Given the description of an element on the screen output the (x, y) to click on. 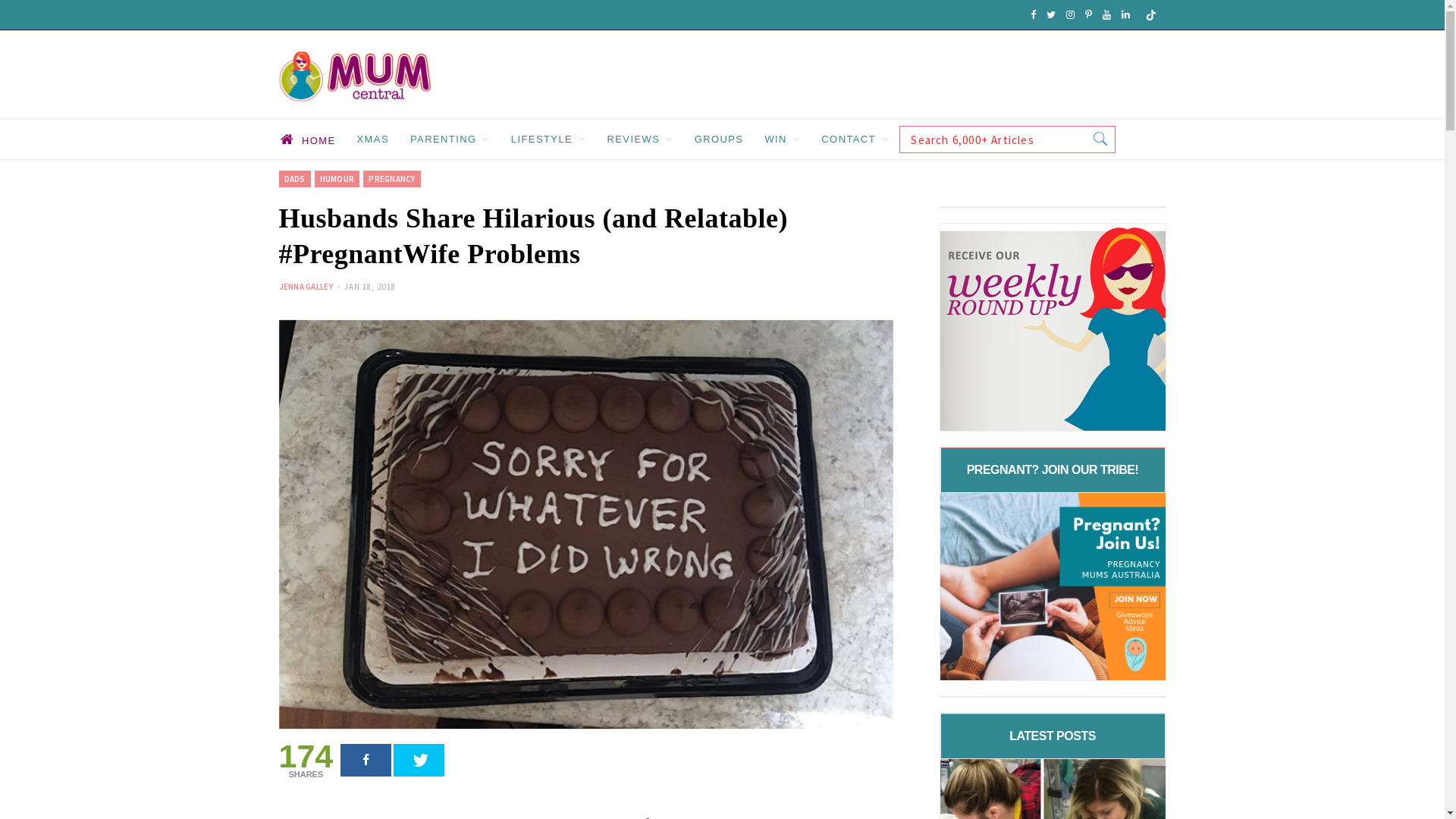
HUMOUR Element type: text (337, 178)
PARENTING Element type: text (449, 139)
WIN Element type: text (781, 139)
GROUPS Element type: text (719, 139)
CONTACT Element type: text (854, 139)
Facebook Element type: text (365, 759)
DADS Element type: text (294, 178)
XMAS Element type: text (372, 139)
LinkedIn Element type: text (1124, 15)
Pinterest Element type: text (1087, 15)
Mum Central Element type: hover (354, 81)
LIFESTYLE Element type: text (548, 139)
HOME Element type: text (307, 140)
JAN 18, 2018 Element type: text (369, 286)
PREGNANCY Element type: text (391, 178)
SoundCloud Element type: text (1150, 15)
Twitter Element type: text (418, 759)
Facebook Element type: text (1032, 15)
JENNA GALLEY Element type: text (305, 286)
YouTube Element type: text (1106, 15)
REVIEWS Element type: text (640, 139)
Twitter Element type: text (1050, 15)
Instagram Element type: text (1070, 15)
